Given the description of an element on the screen output the (x, y) to click on. 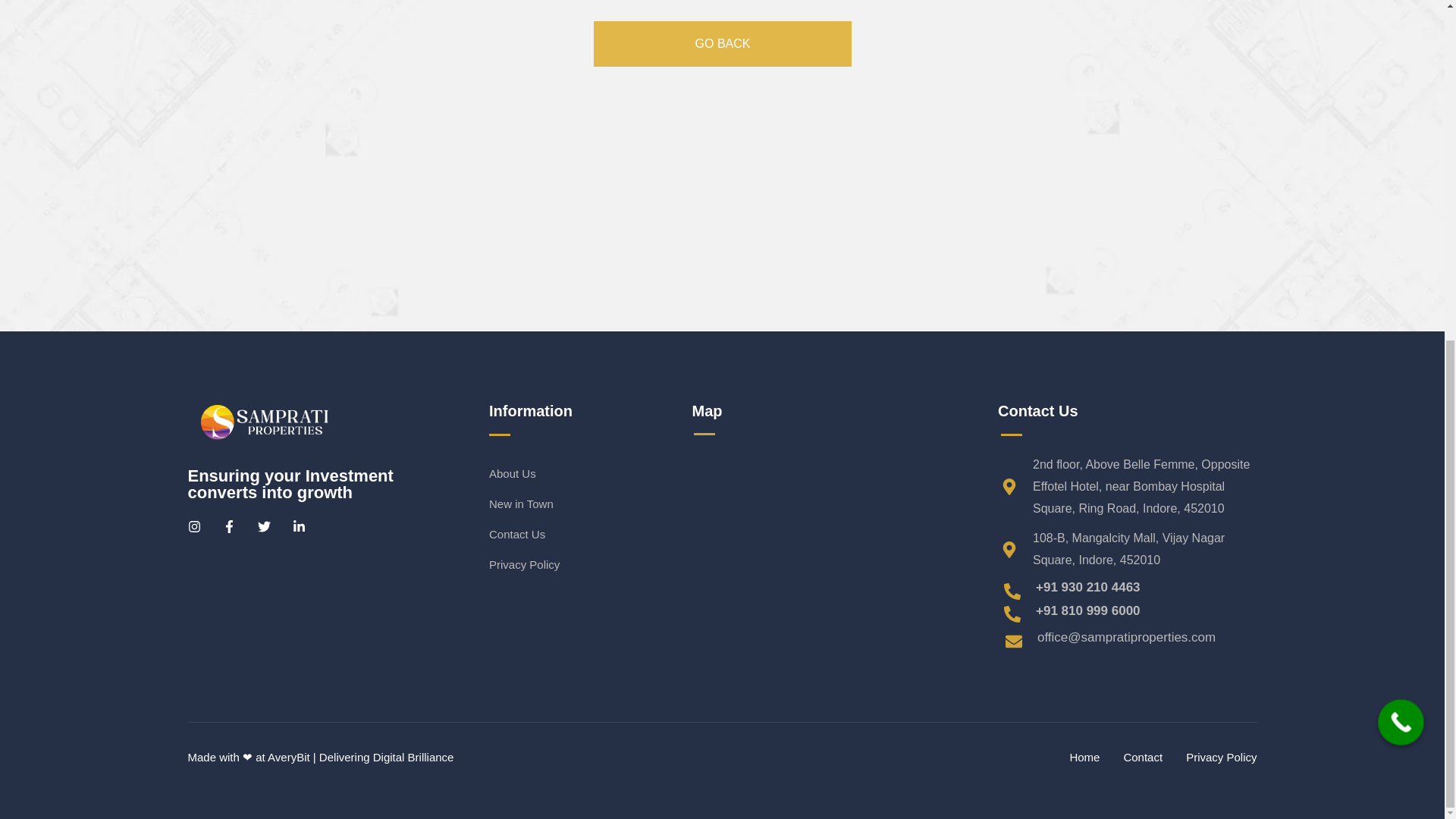
New in Town (605, 503)
Contact Us (605, 534)
Contact (1141, 757)
GO BACK (721, 43)
Privacy Policy (1221, 757)
Samprati Properties Pvt Ltd (801, 531)
Home (1083, 757)
About Us (605, 473)
AveryBit (288, 757)
Privacy Policy (605, 564)
